Given the description of an element on the screen output the (x, y) to click on. 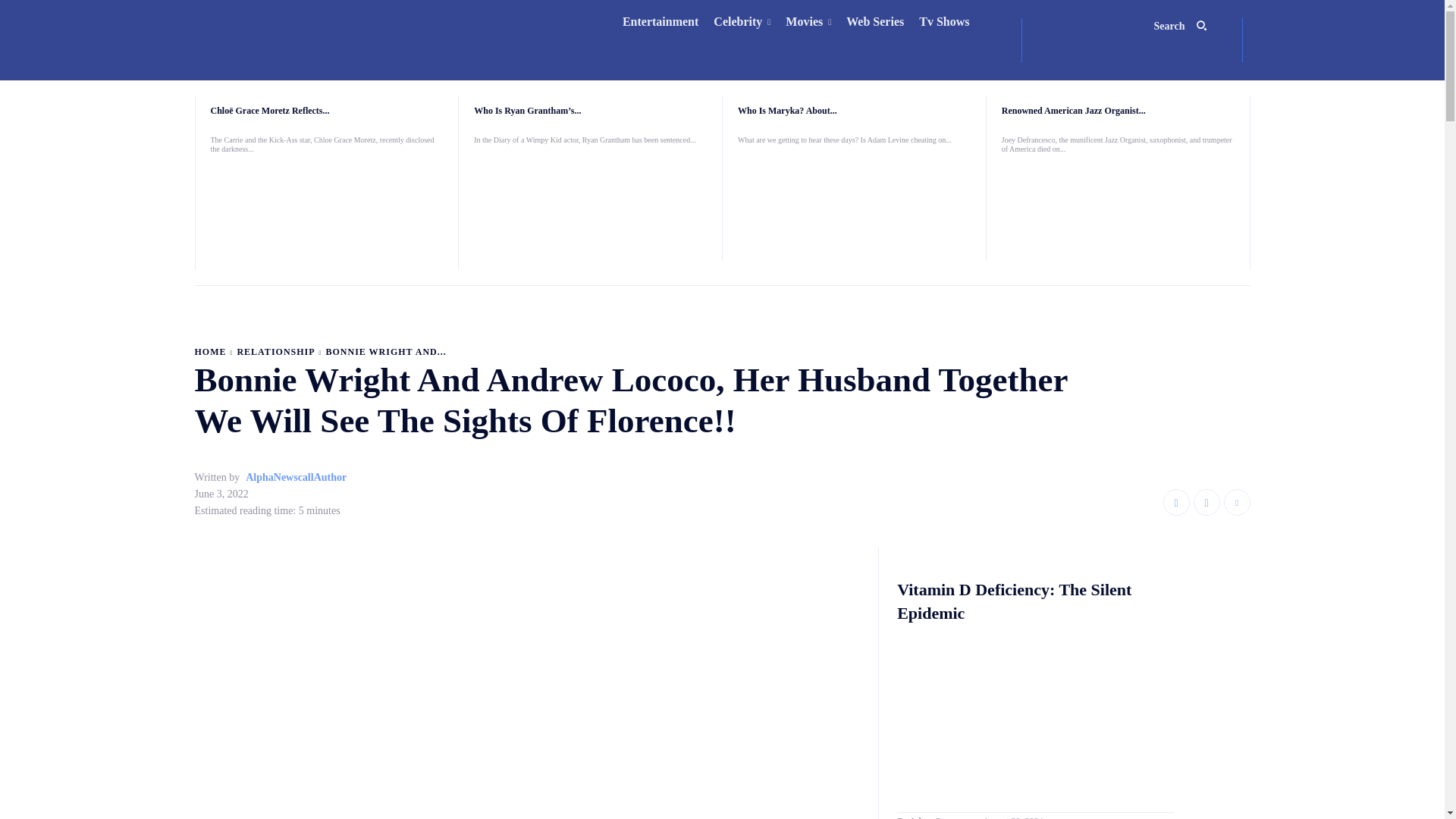
Renowned American Jazz Organist Joey Defrancesco No More! (1117, 211)
View all posts in Relationship (274, 351)
Who Is Maryka? About Maryka And Adam Levine Affair Rumors! (787, 110)
Movies (807, 22)
Entertainment (660, 22)
Who Is Maryka? About Maryka And Adam Levine Affair Rumors! (854, 202)
Renowned American Jazz Organist Joey Defrancesco No More! (1073, 110)
Celebrity (741, 22)
